Given the description of an element on the screen output the (x, y) to click on. 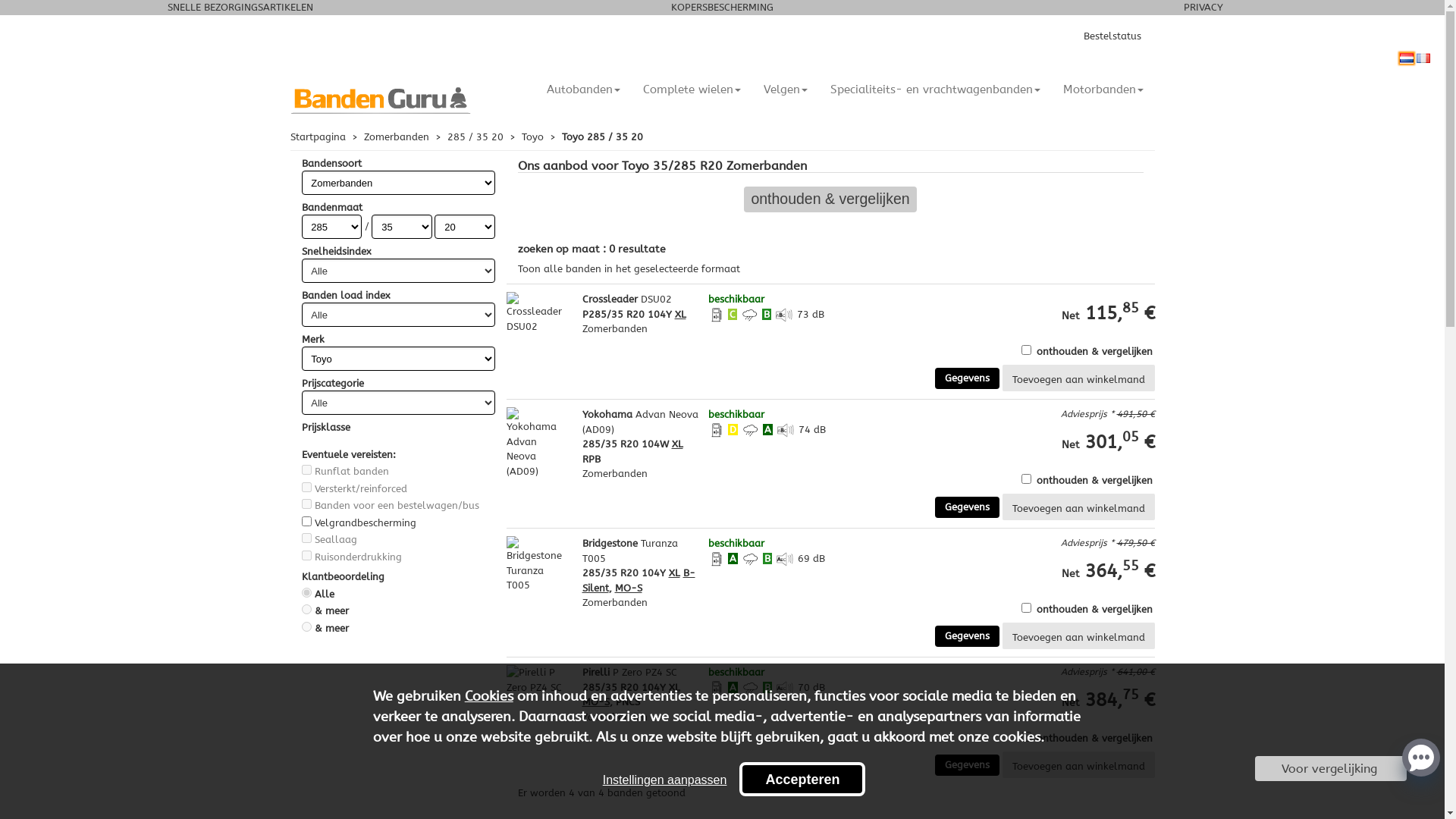
Toevoegen aan winkelmand Element type: text (1078, 764)
P Zero PZ4 SC Element type: text (644, 671)
Voor vergelijking Element type: text (1330, 768)
gallery Element type: text (1138, 256)
list Element type: text (1126, 256)
Toevoegen aan winkelmand Element type: text (1078, 635)
Velgen Element type: text (785, 88)
Startpagina Element type: text (317, 135)
Toevoegen aan winkelmand Element type: text (1078, 377)
Gegevens Element type: text (966, 764)
Specialiteits- en vrachtwagenbanden Element type: text (935, 88)
Cookies Element type: text (488, 695)
Gegevens Element type: text (966, 378)
onthouden & vergelijken Element type: text (830, 199)
Zomerbanden Element type: text (396, 135)
Turanza T005 Element type: text (629, 550)
285 / 35 20 Element type: text (475, 135)
Toyo Element type: text (532, 135)
Gegevens Element type: text (966, 506)
DSU02 Element type: text (655, 298)
LIST Element type: hover (1126, 256)
Complete wielen Element type: text (690, 88)
Motorbanden Element type: text (1102, 88)
Gegevens Element type: text (966, 635)
Advan Neova (AD09) Element type: text (640, 421)
Instellingen aanpassen Element type: text (664, 779)
Toevoegen aan winkelmand Element type: text (1078, 506)
Autobanden Element type: text (583, 88)
Gallery Element type: hover (1138, 256)
Bestelstatus Element type: text (1111, 36)
Nederlands Element type: text (1406, 58)
Accepteren Element type: text (802, 779)
